Given the description of an element on the screen output the (x, y) to click on. 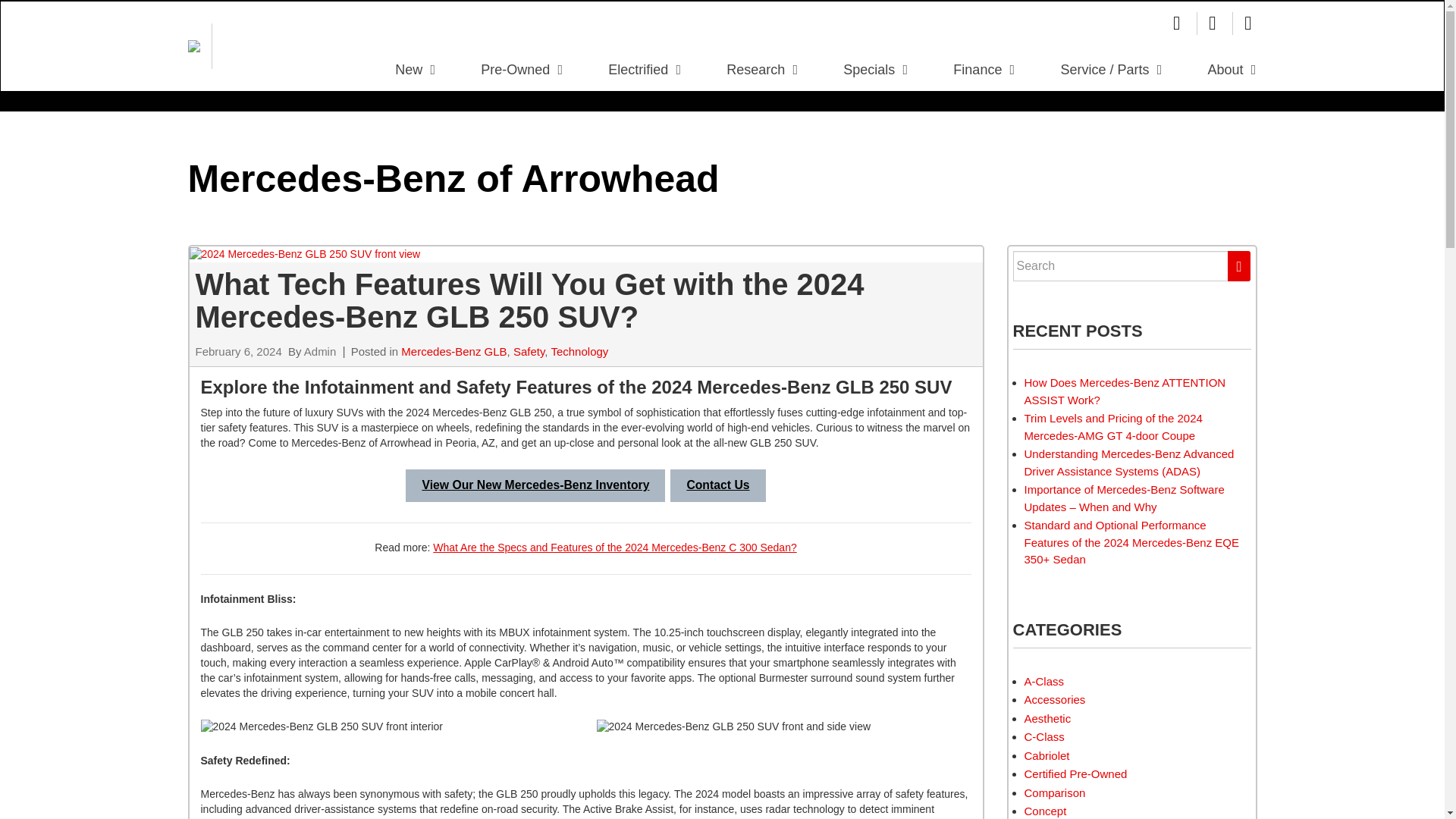
Mercedes-Benz of Arrowhead (193, 46)
New (416, 70)
Pre-Owned (522, 70)
